Given the description of an element on the screen output the (x, y) to click on. 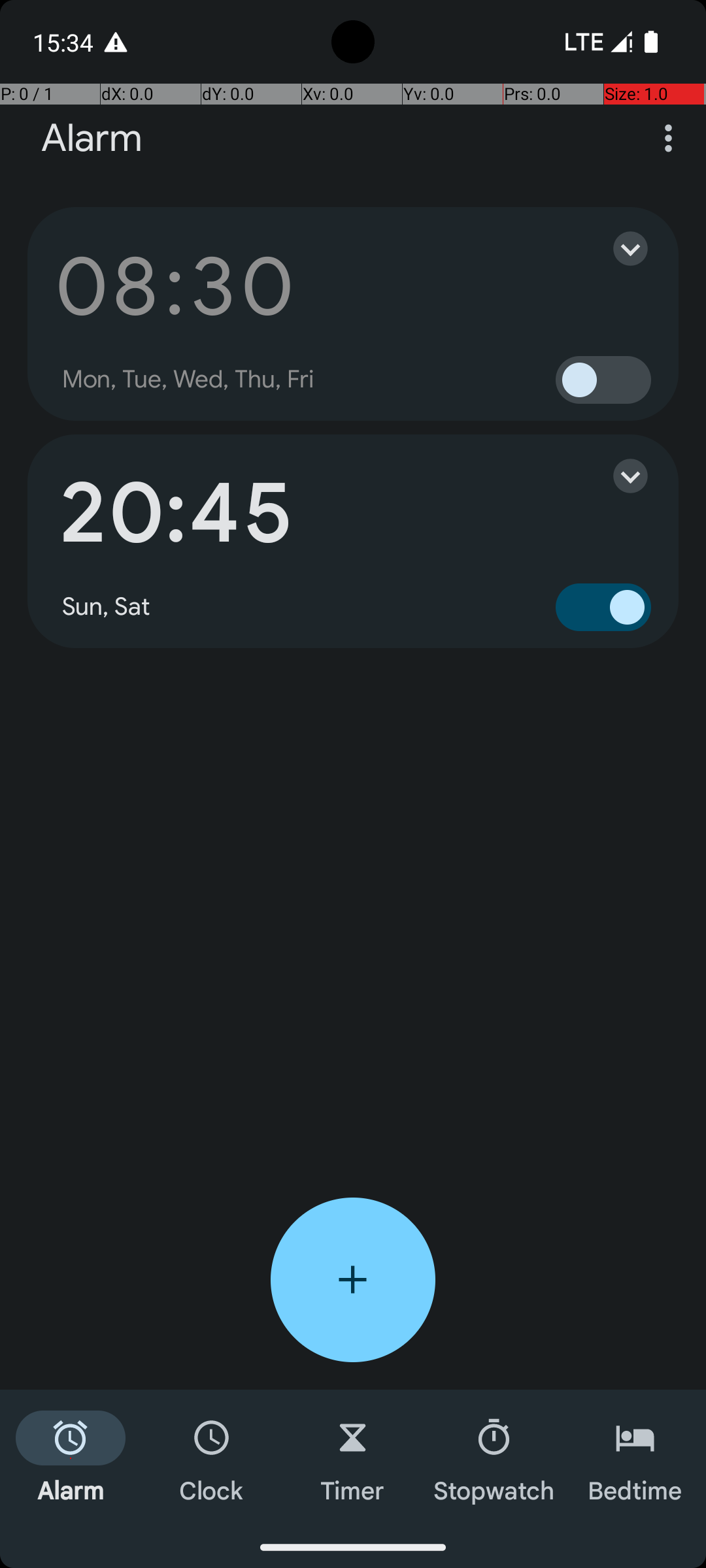
Add alarm Element type: android.widget.Button (352, 1279)
08:30 Element type: android.widget.TextView (174, 286)
Expand alarm Element type: android.widget.ImageButton (616, 248)
Mon, Tue, Wed, Thu, Fri Element type: android.widget.TextView (187, 379)
20:45 Element type: android.widget.TextView (174, 513)
Sun, Sat Element type: android.widget.TextView (106, 606)
